Given the description of an element on the screen output the (x, y) to click on. 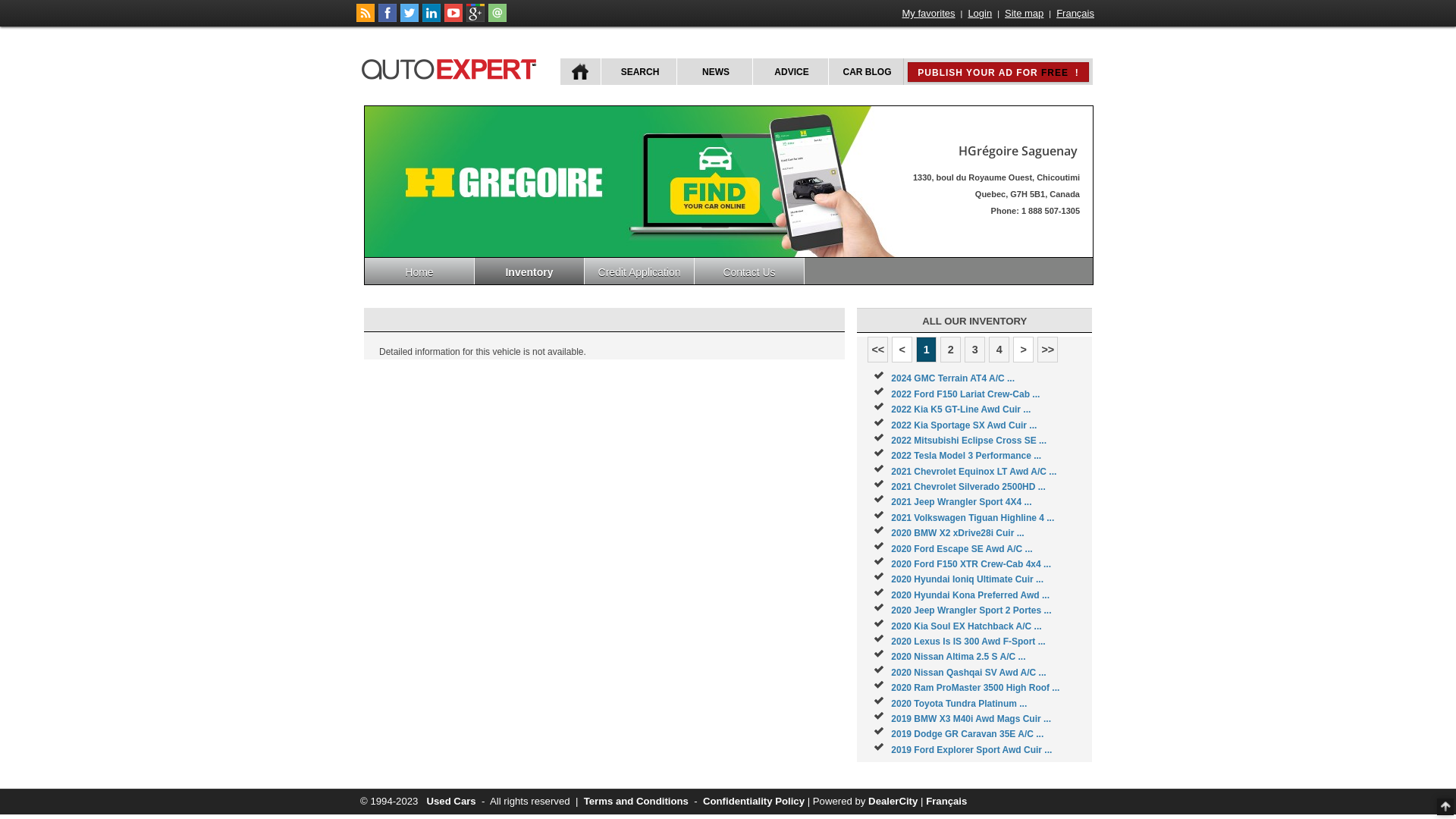
Site map Element type: text (1023, 13)
2019 BMW X3 M40i Awd Mags Cuir ... Element type: text (971, 718)
2020 Nissan Altima 2.5 S A/C ... Element type: text (958, 656)
2 Element type: text (950, 349)
Contact autoExpert.ca Element type: hover (497, 18)
CAR BLOG Element type: text (865, 71)
My favorites Element type: text (928, 13)
2020 Ford Escape SE Awd A/C ... Element type: text (961, 548)
2020 Ford F150 XTR Crew-Cab 4x4 ... Element type: text (971, 563)
2022 Tesla Model 3 Performance ... Element type: text (966, 455)
2024 GMC Terrain AT4 A/C ... Element type: text (952, 378)
2021 Jeep Wrangler Sport 4X4 ... Element type: text (961, 501)
2022 Kia Sportage SX Awd Cuir ... Element type: text (963, 425)
2021 Chevrolet Equinox LT Awd A/C ... Element type: text (973, 471)
2021 Volkswagen Tiguan Highline 4 ... Element type: text (972, 517)
Credit Application Element type: text (639, 270)
2021 Chevrolet Silverado 2500HD ... Element type: text (967, 486)
4 Element type: text (998, 349)
2020 Hyundai Kona Preferred Awd ... Element type: text (970, 594)
2020 Toyota Tundra Platinum ... Element type: text (958, 703)
1 Element type: text (926, 349)
Login Element type: text (979, 13)
2020 Kia Soul EX Hatchback A/C ... Element type: text (966, 626)
Follow car news on autoExpert.ca Element type: hover (365, 18)
autoExpert.ca Element type: text (451, 66)
> Element type: text (1023, 349)
< Element type: text (901, 349)
Contact Us Element type: text (749, 270)
2019 Ford Explorer Sport Awd Cuir ... Element type: text (971, 749)
2020 Hyundai Ioniq Ultimate Cuir ... Element type: text (967, 579)
Used Cars Element type: text (450, 800)
ADVICE Element type: text (790, 71)
2020 BMW X2 xDrive28i Cuir ... Element type: text (957, 532)
NEWS Element type: text (714, 71)
Follow autoExpert.ca on Youtube Element type: hover (453, 18)
2022 Ford F150 Lariat Crew-Cab ... Element type: text (965, 394)
DealerCity Element type: text (892, 800)
Confidentiality Policy Element type: text (753, 800)
Follow autoExpert.ca on Google Plus Element type: hover (475, 18)
2020 Nissan Qashqai SV Awd A/C ... Element type: text (968, 672)
Inventory Element type: text (529, 270)
2022 Kia K5 GT-Line Awd Cuir ... Element type: text (960, 409)
Follow autoExpert.ca on Facebook Element type: hover (387, 18)
Follow autoExpert.ca on Twitter Element type: hover (409, 18)
HOME Element type: text (580, 71)
2019 Dodge GR Caravan 35E A/C ... Element type: text (967, 733)
2022 Mitsubishi Eclipse Cross SE ... Element type: text (968, 440)
2020 Lexus Is IS 300 Awd F-Sport ... Element type: text (967, 641)
SEARCH Element type: text (638, 71)
2020 Jeep Wrangler Sport 2 Portes ... Element type: text (971, 610)
3 Element type: text (974, 349)
>> Element type: text (1047, 349)
Home Element type: text (419, 270)
Terms and Conditions Element type: text (635, 800)
Follow Publications Le Guide Inc. on LinkedIn Element type: hover (431, 18)
<< Element type: text (877, 349)
PUBLISH YOUR AD FOR FREE  ! Element type: text (997, 71)
2020 Ram ProMaster 3500 High Roof ... Element type: text (975, 687)
